Given the description of an element on the screen output the (x, y) to click on. 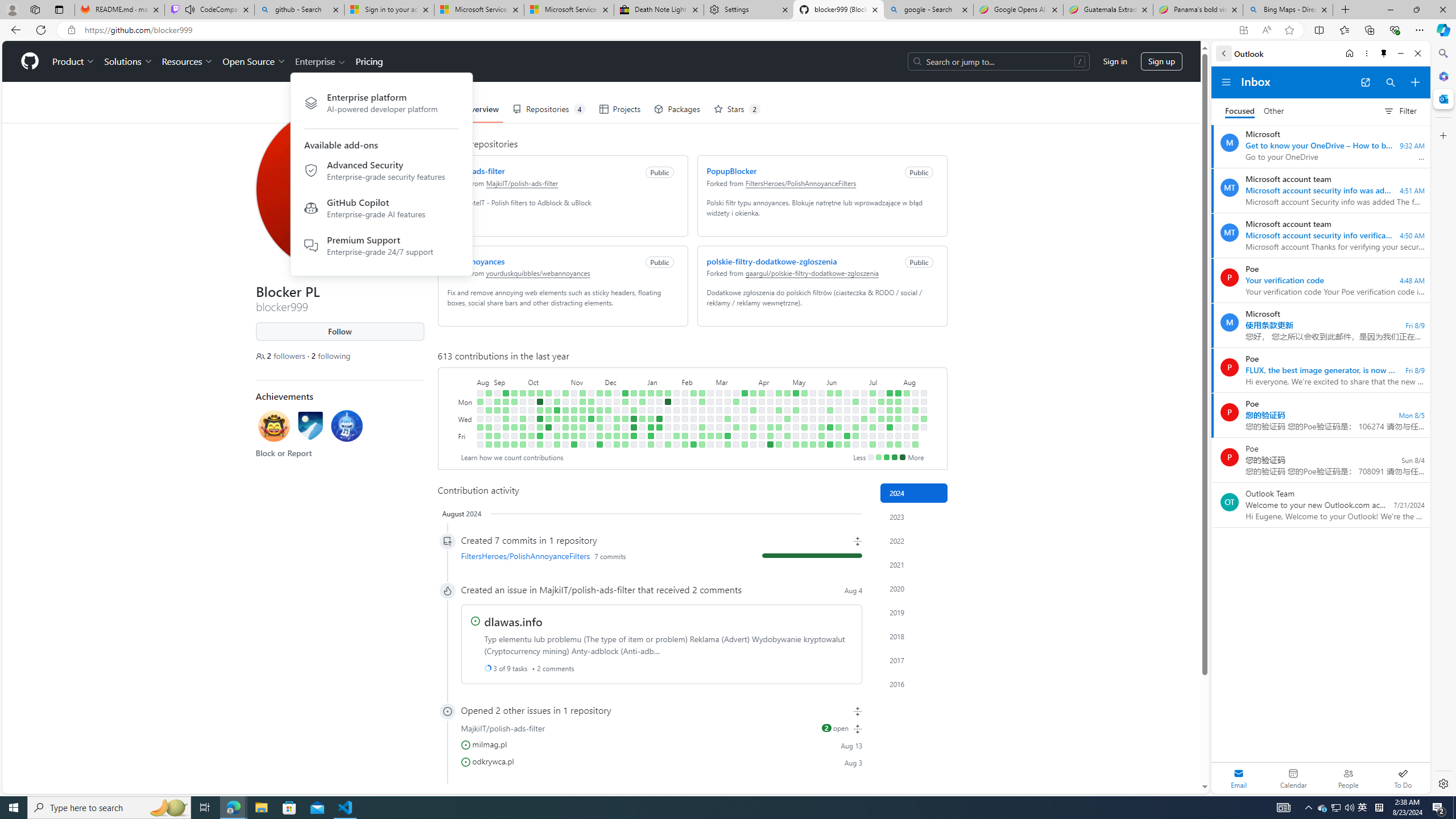
5 contributions on April 7th. (761, 392)
Aug 4 (853, 589)
2017 (913, 659)
Contribution activity in 2018 (913, 636)
No contributions on February 29th. (710, 427)
No contributions on February 3rd. (675, 444)
No contributions on October 20th. (547, 435)
No contributions on January 31st. (675, 418)
Personal Profile (12, 9)
1 contribution on May 16th. (804, 427)
12 contributions on October 19th. (547, 427)
6 contributions on December 29th. (633, 435)
Contribution activity in 2019 (913, 612)
1 contribution on July 24th. (889, 418)
Achievement: Arctic Code Vault Contributor (310, 425)
